Given the description of an element on the screen output the (x, y) to click on. 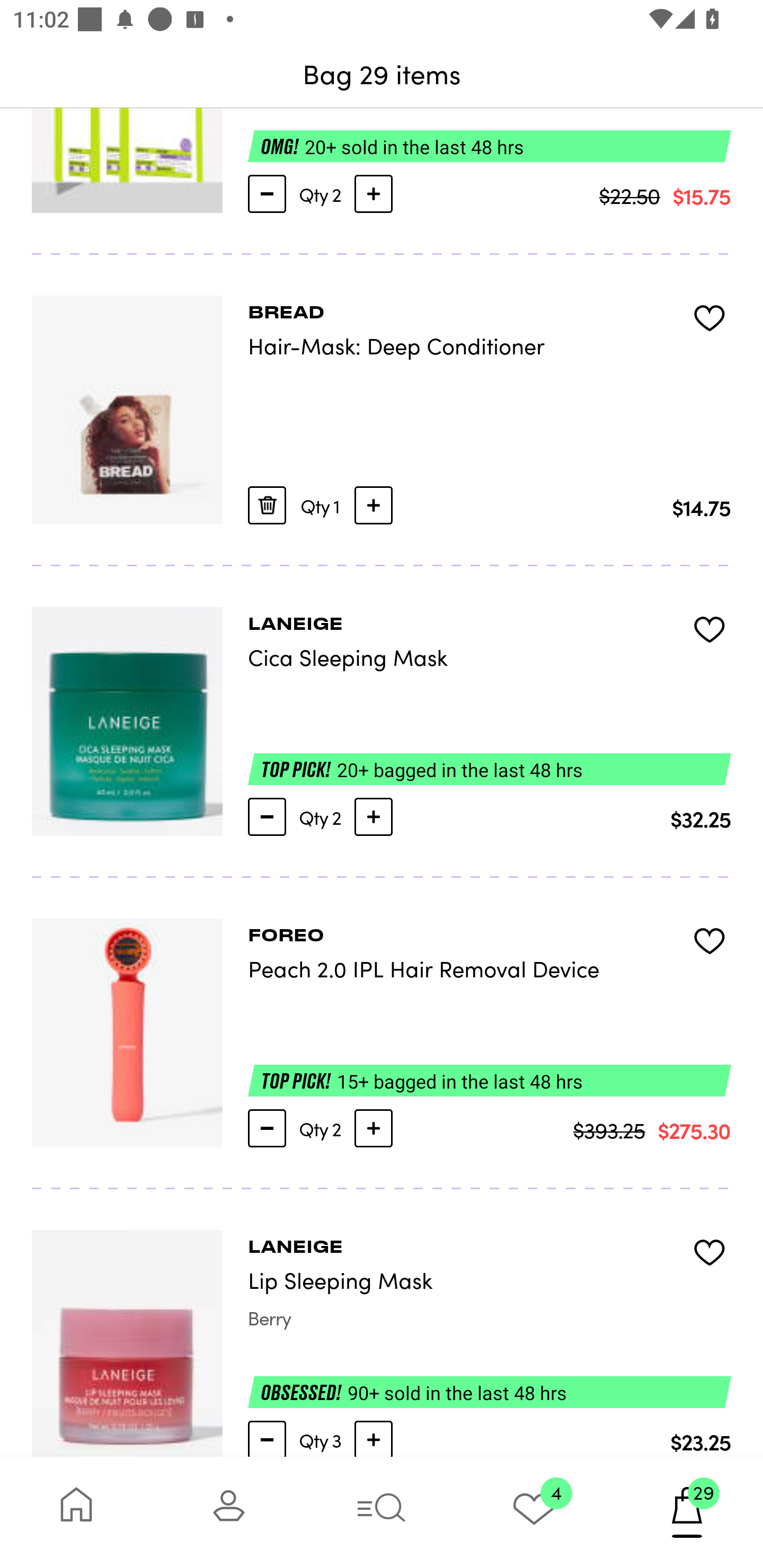
BREAD Hair-Mask: Deep Conditioner Qty 1 $14.75 (381, 410)
4 (533, 1512)
29 (686, 1512)
